Given the description of an element on the screen output the (x, y) to click on. 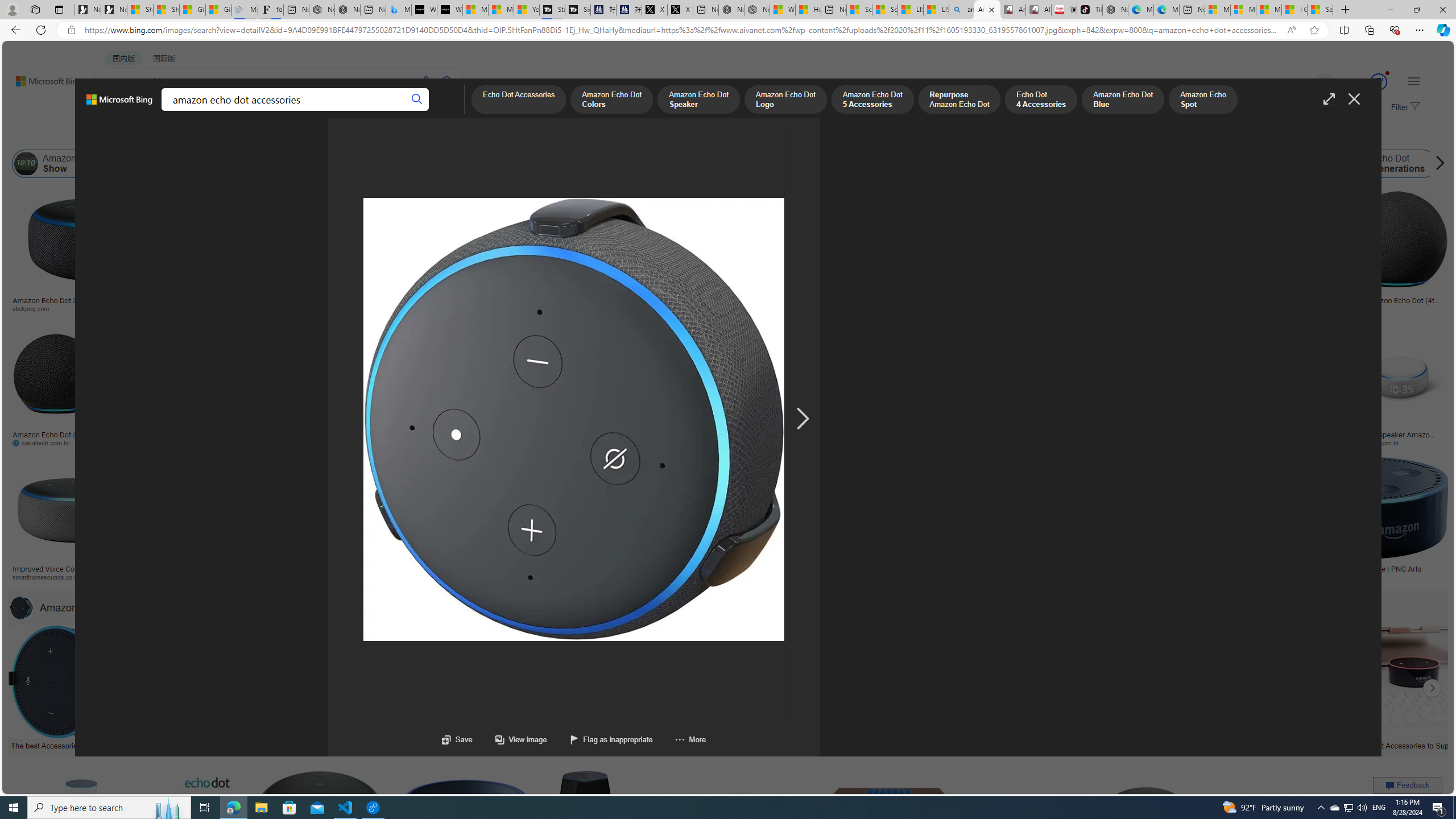
Amazon Echo Dot Accessories (21, 607)
Amazon Echo Dot 3 (1278, 163)
Microsoft Start Sports (475, 9)
License (377, 135)
security.org (249, 576)
pngkey.com (807, 442)
Scroll right (1436, 163)
Full screen (1328, 99)
Feedback (1407, 785)
